Given the description of an element on the screen output the (x, y) to click on. 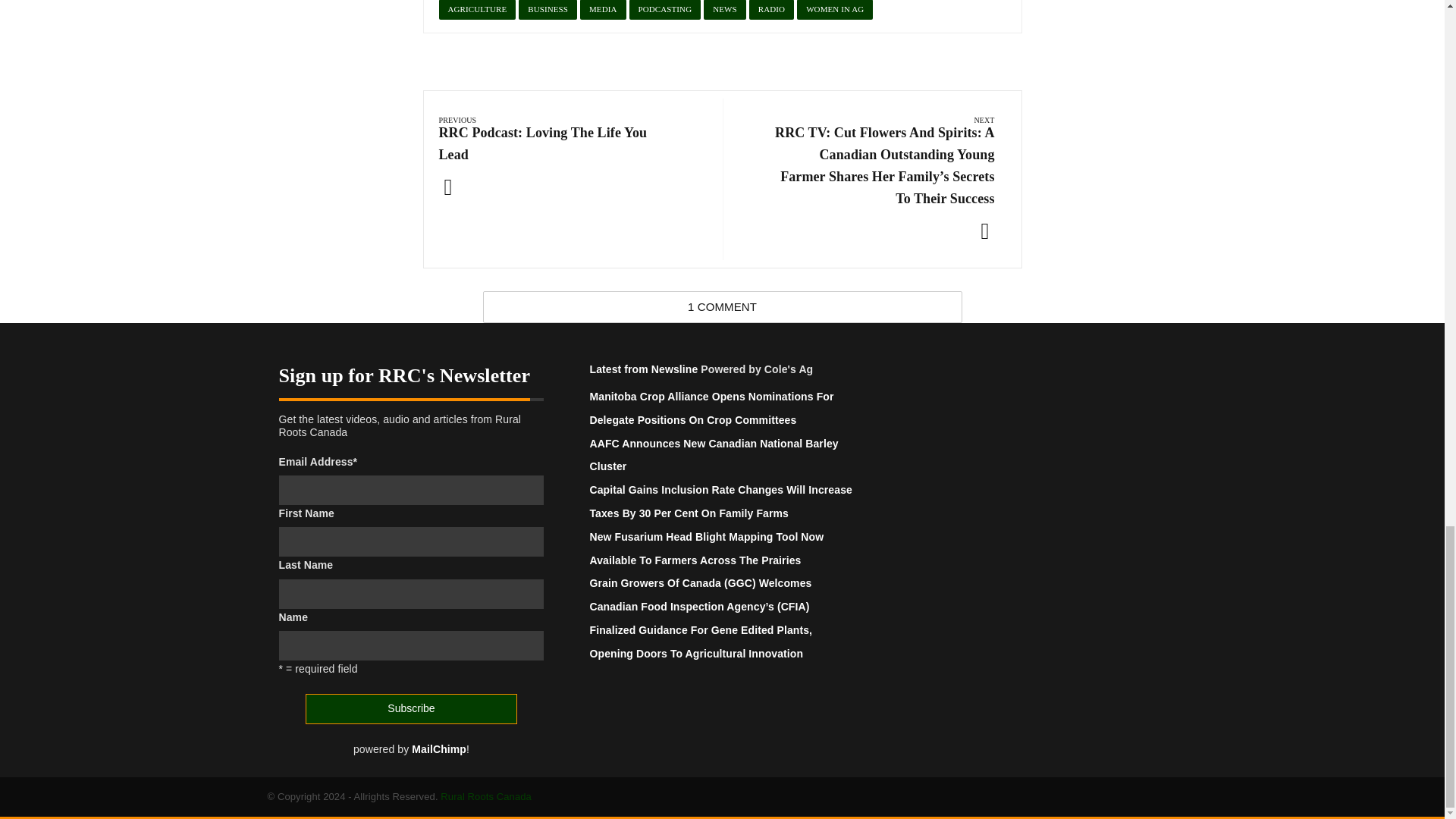
RADIO (771, 9)
NEWS (724, 9)
Amplifying Canadian Agriculture (486, 796)
AGRICULTURE (476, 9)
WOMEN IN AG (834, 9)
Subscribe (410, 708)
MEDIA (602, 9)
BUSINESS (547, 9)
PODCASTING (664, 9)
